Given the description of an element on the screen output the (x, y) to click on. 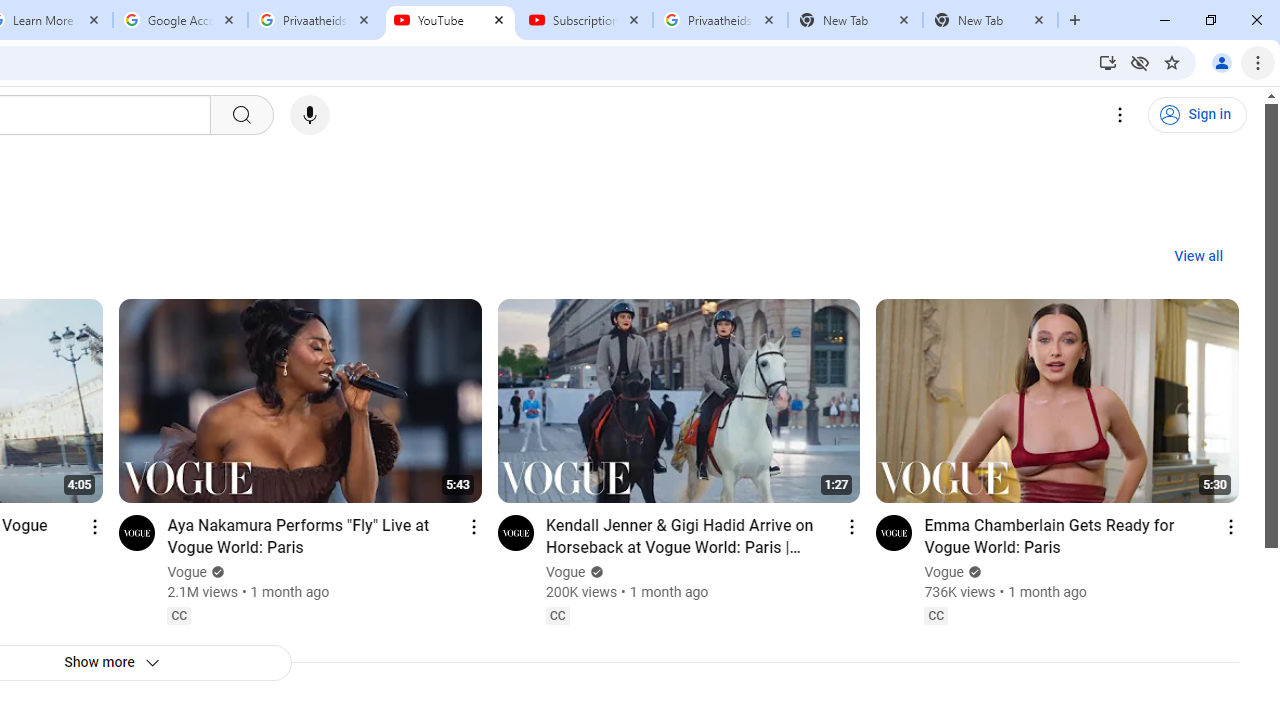
Closed captions (936, 615)
Search with your voice (309, 115)
Install YouTube (1107, 62)
Google Account (180, 20)
New Tab (990, 20)
Go to channel (893, 532)
YouTube (450, 20)
Settings (1119, 115)
